Given the description of an element on the screen output the (x, y) to click on. 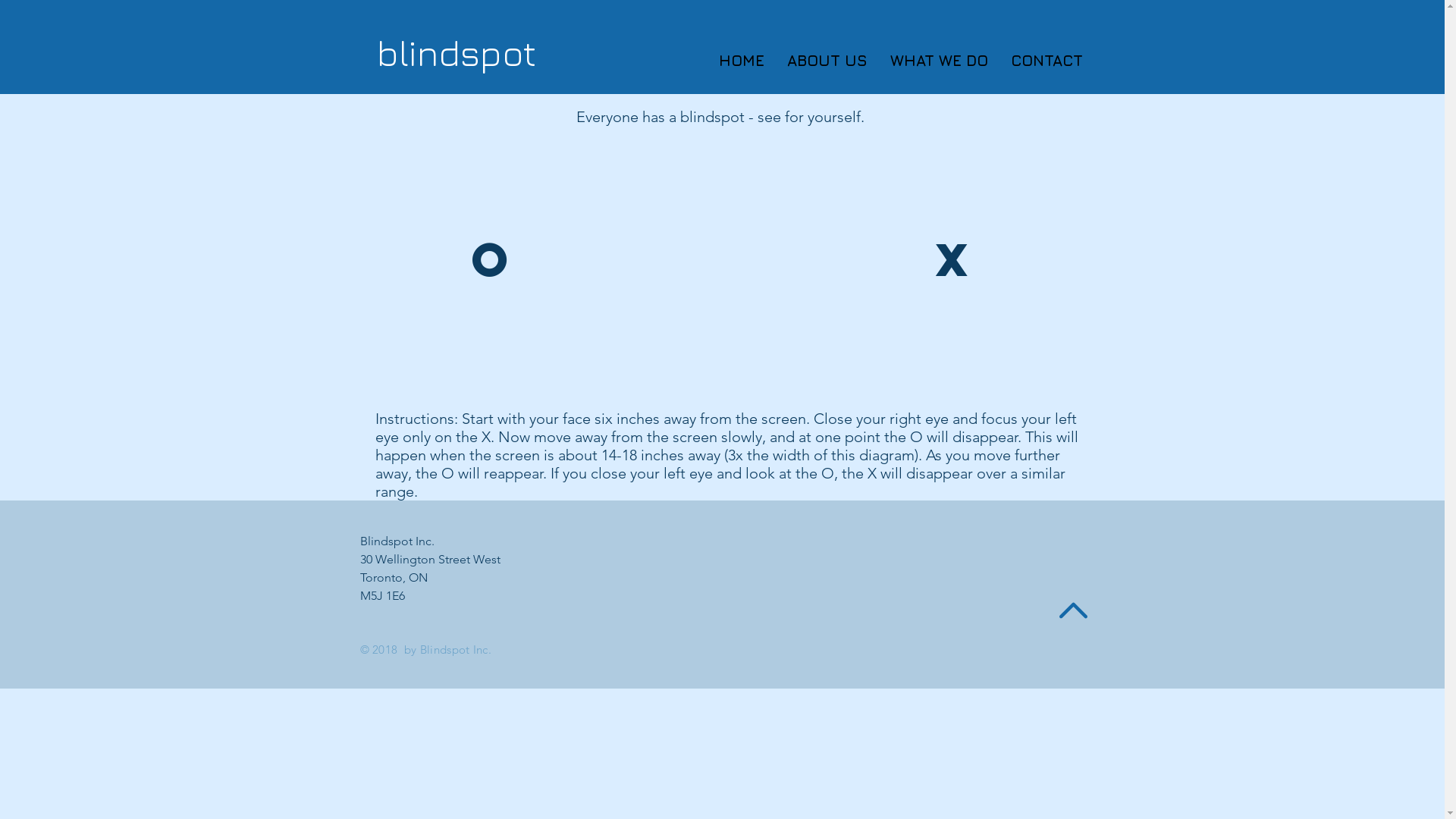
ABOUT US Element type: text (770, 59)
CONTACT Element type: text (994, 59)
WHAT WE DO Element type: text (884, 59)
blindspot Element type: text (455, 53)
HOME Element type: text (679, 59)
